Given the description of an element on the screen output the (x, y) to click on. 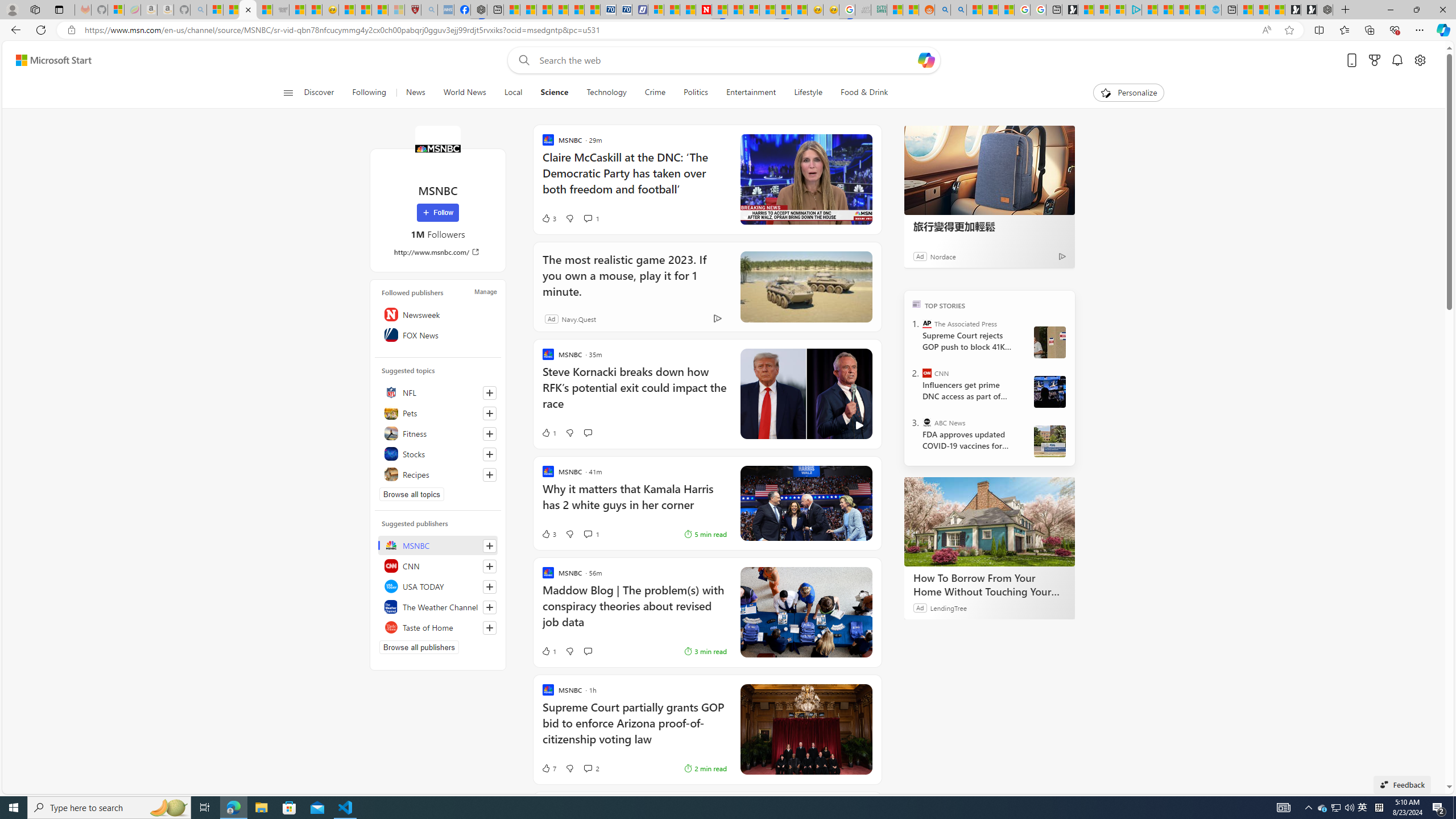
DITOGAMES AG Imprint (878, 9)
Start the conversation (587, 650)
Microsoft rewards (1374, 60)
Follow this source (489, 627)
CNN (437, 565)
Nordace (943, 256)
MSN (783, 9)
Local (512, 92)
Cheap Car Rentals - Save70.com (608, 9)
